Given the description of an element on the screen output the (x, y) to click on. 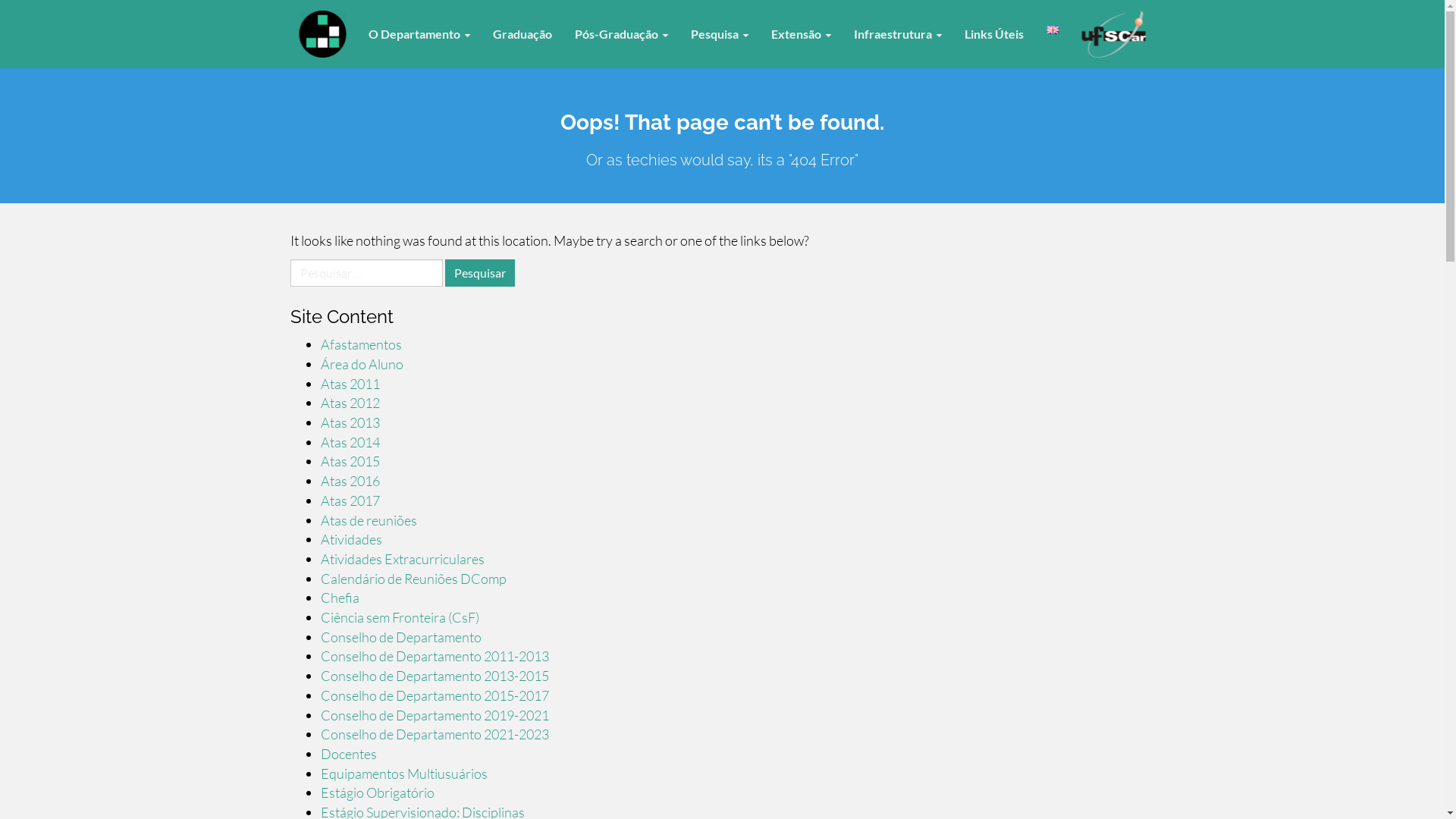
Atas 2013 Element type: text (349, 422)
O Departamento Element type: text (419, 34)
Infraestrutura Element type: text (897, 34)
Conselho de Departamento Element type: text (400, 636)
Conselho de Departamento 2013-2015 Element type: text (434, 675)
Atas 2014 Element type: text (349, 441)
Atividades Extracurriculares Element type: text (401, 558)
Atas 2015 Element type: text (349, 460)
Conselho de Departamento 2015-2017 Element type: text (434, 695)
Conselho de Departamento 2021-2023 Element type: text (434, 733)
Atas 2016 Element type: text (349, 480)
Docentes Element type: text (348, 753)
Pesquisar Element type: text (479, 272)
Pesquisa Element type: text (719, 34)
Conselho de Departamento 2011-2013 Element type: text (434, 655)
Atas 2012 Element type: text (349, 402)
Atividades Element type: text (350, 538)
Atas 2011 Element type: text (349, 383)
Atas 2017 Element type: text (349, 500)
English Element type: hover (1052, 29)
Afastamentos Element type: text (360, 343)
Conselho de Departamento 2019-2021 Element type: text (434, 714)
Chefia Element type: text (339, 597)
